Given the description of an element on the screen output the (x, y) to click on. 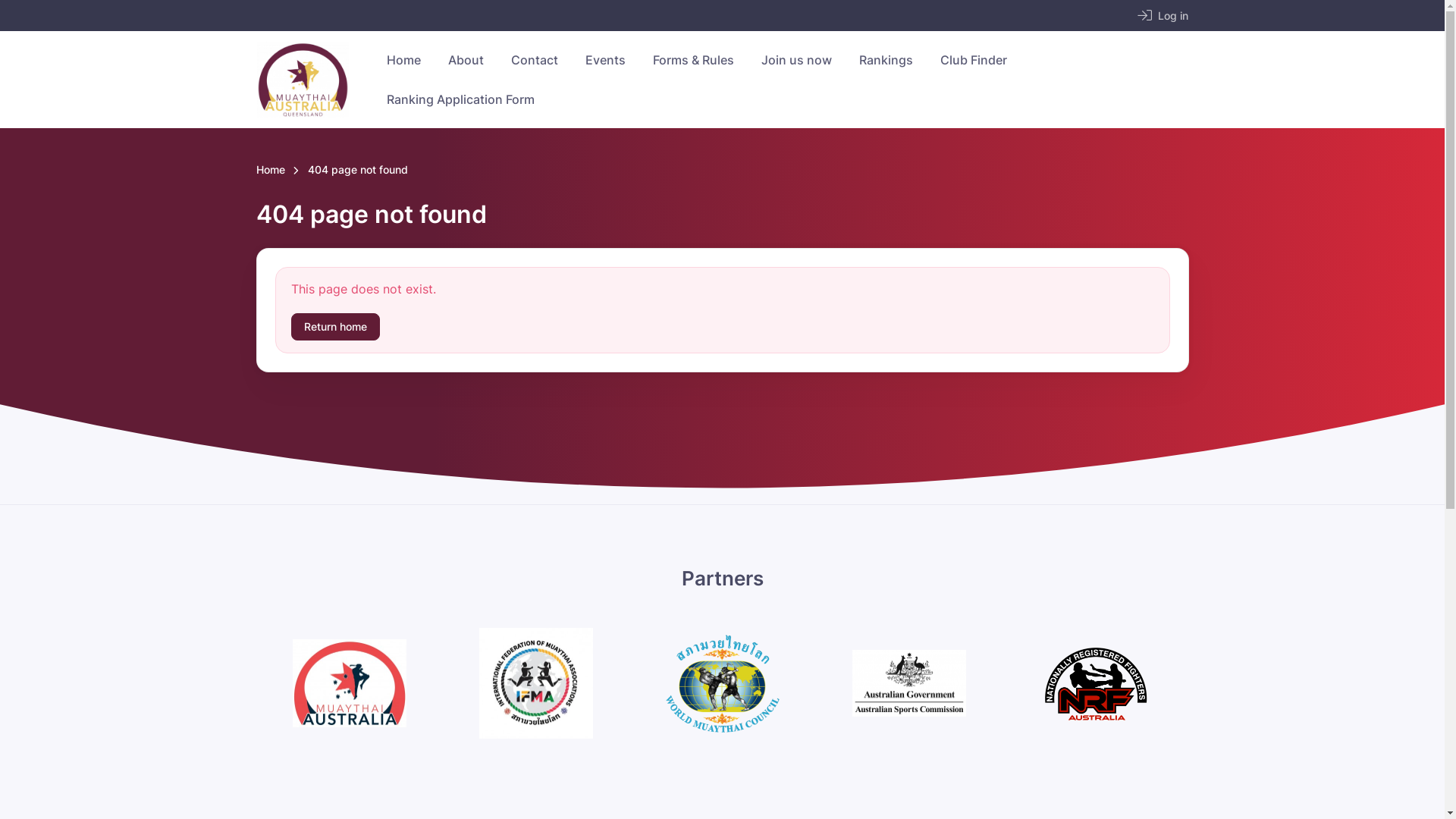
Return home Element type: text (335, 327)
Home Element type: text (403, 59)
Club Finder Element type: text (973, 59)
Ranking Application Form Element type: text (460, 99)
About Element type: text (465, 59)
Forms & Rules Element type: text (693, 59)
Events Element type: text (605, 59)
Nationally Registered Fighters Element type: hover (1095, 682)
Contact Element type: text (534, 59)
Log in Element type: text (1162, 15)
Home Element type: text (270, 170)
Rankings Element type: text (885, 59)
Join us now Element type: text (796, 59)
